Given the description of an element on the screen output the (x, y) to click on. 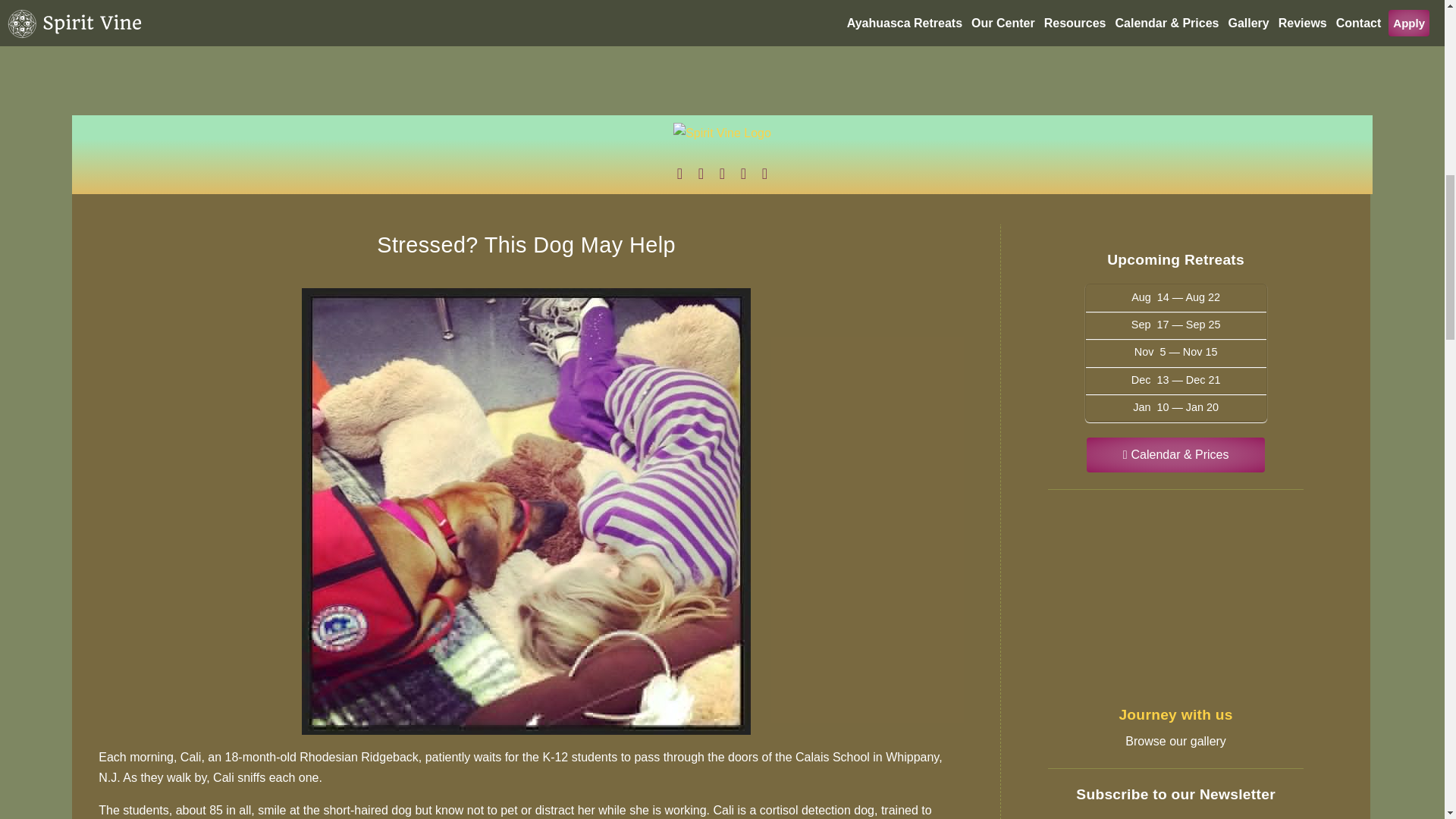
Spirit Vine Ayahuasca Retreat Center (722, 137)
Follow us on Instagram (679, 173)
Follow us on Pinterest (764, 173)
Watch Spirit Vine Videos on YouTube (721, 173)
Read reviews of Spirit Vine on TripAdvisor (743, 173)
